Given the description of an element on the screen output the (x, y) to click on. 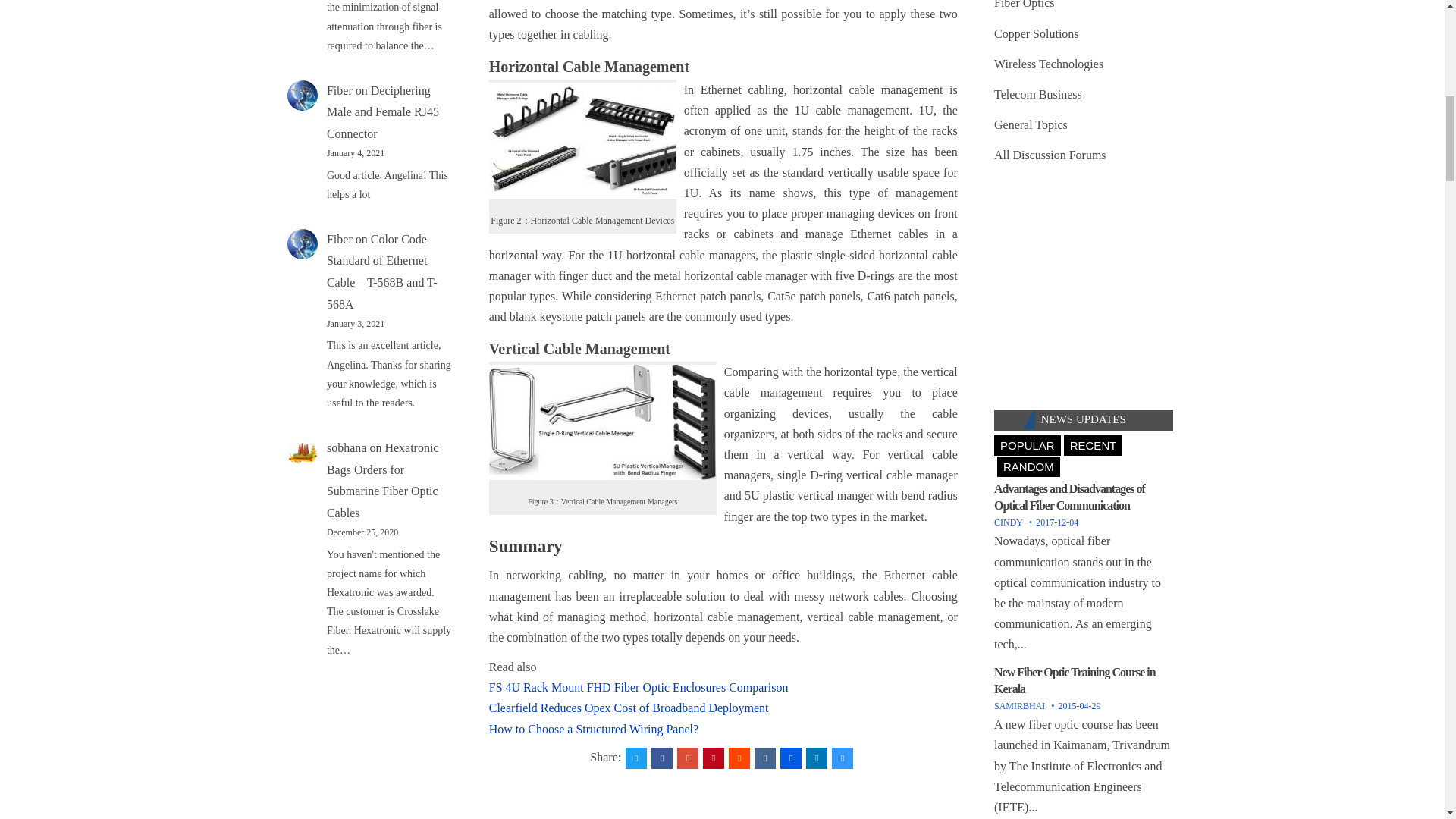
Tweet This! (636, 758)
Share this on Facebook (661, 758)
Ethernet Cable Management Solutions 4 (602, 421)
Share this on Reddit (739, 758)
Ethernet Cable Management Solutions 3 (583, 140)
Share this on Pinterest (713, 758)
